Given the description of an element on the screen output the (x, y) to click on. 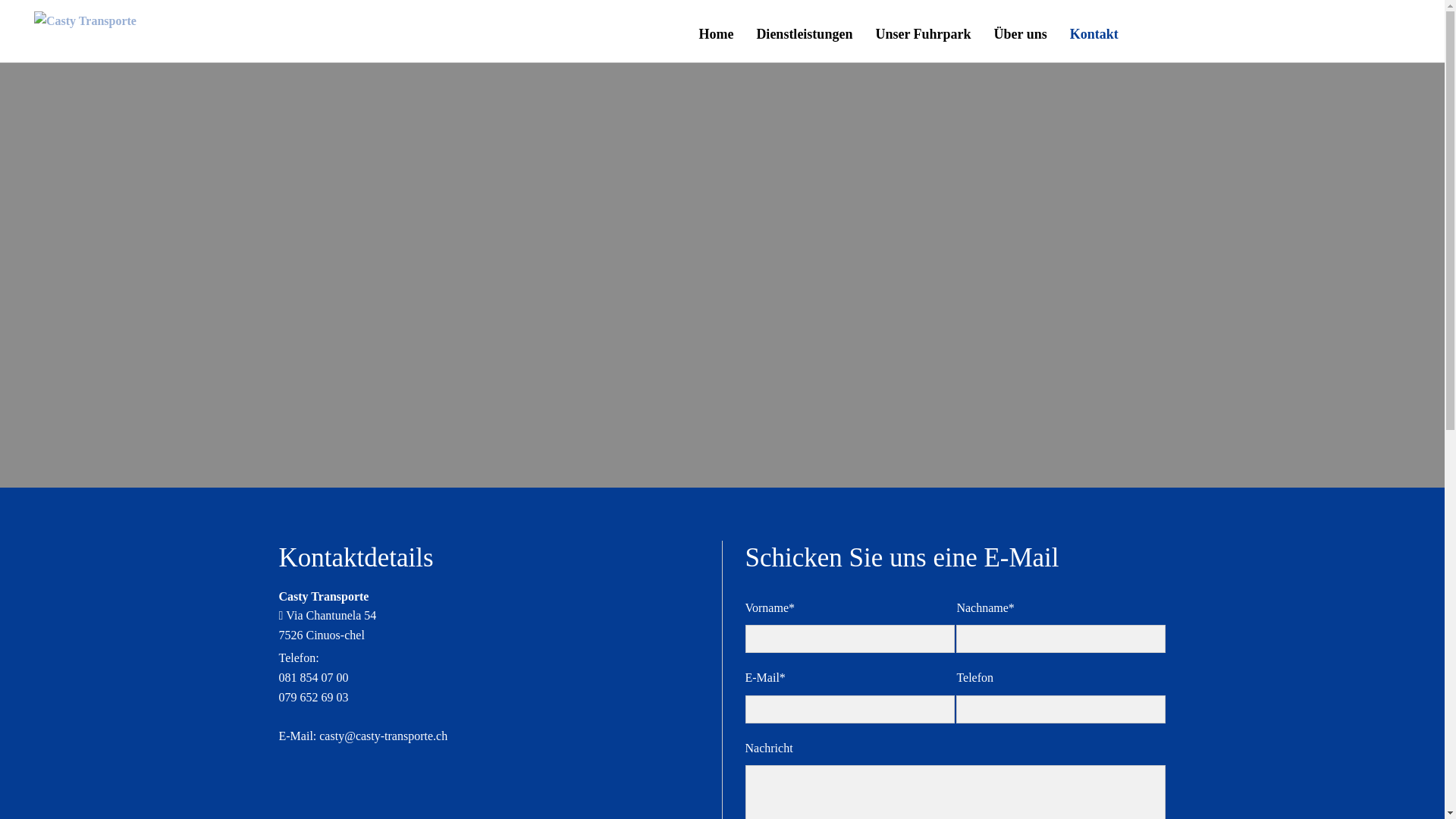
Unser Fuhrpark Element type: text (922, 34)
081 854 07 00 Element type: text (313, 677)
Home Element type: text (715, 34)
Kontakt Element type: text (1094, 34)
casty@casty-transporte.ch Element type: text (383, 735)
Dienstleistungen Element type: text (804, 34)
079 652 69 03 Element type: text (313, 696)
